Given the description of an element on the screen output the (x, y) to click on. 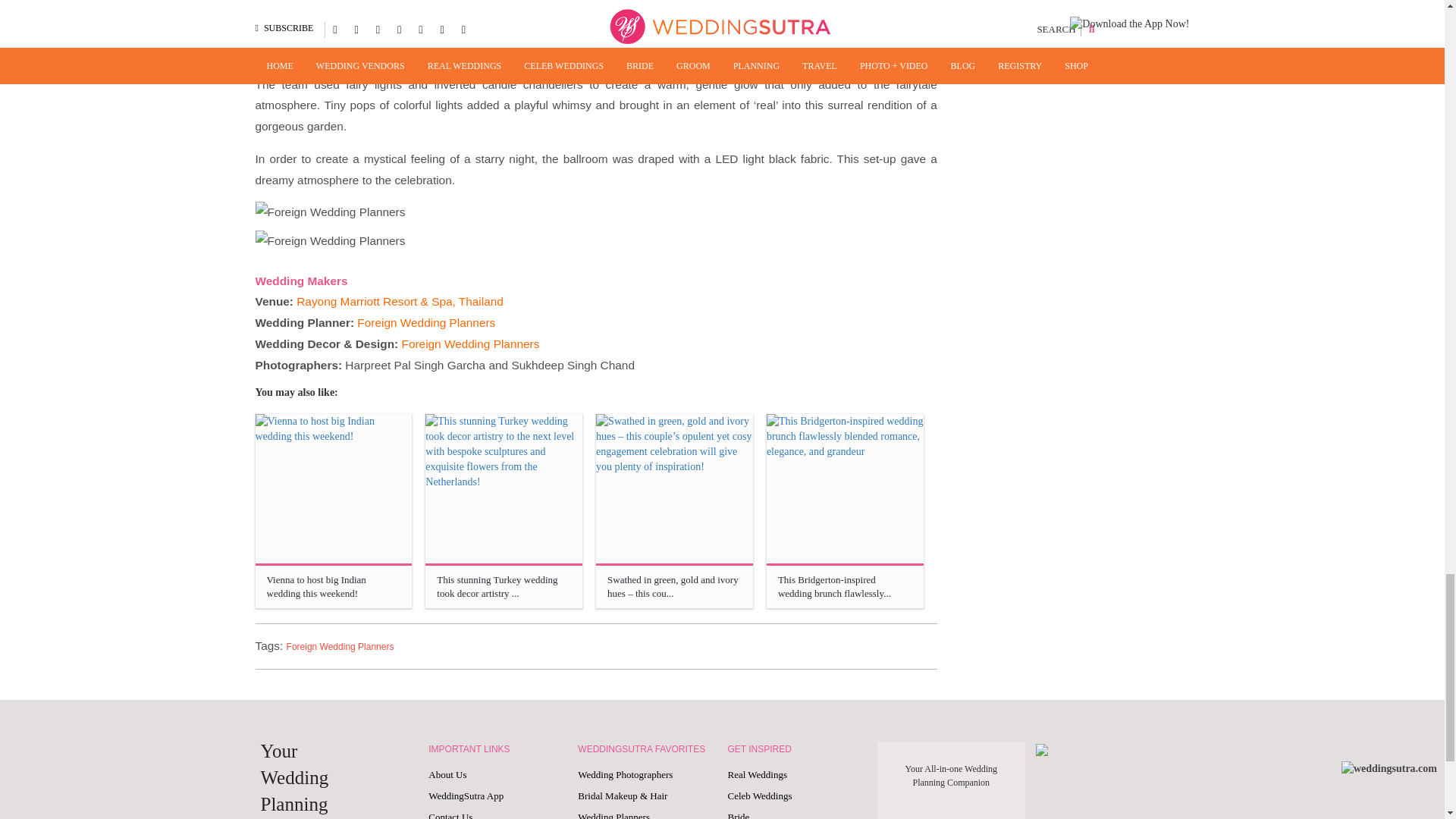
Vienna to host big Indian wedding this weekend! (333, 492)
